Given the description of an element on the screen output the (x, y) to click on. 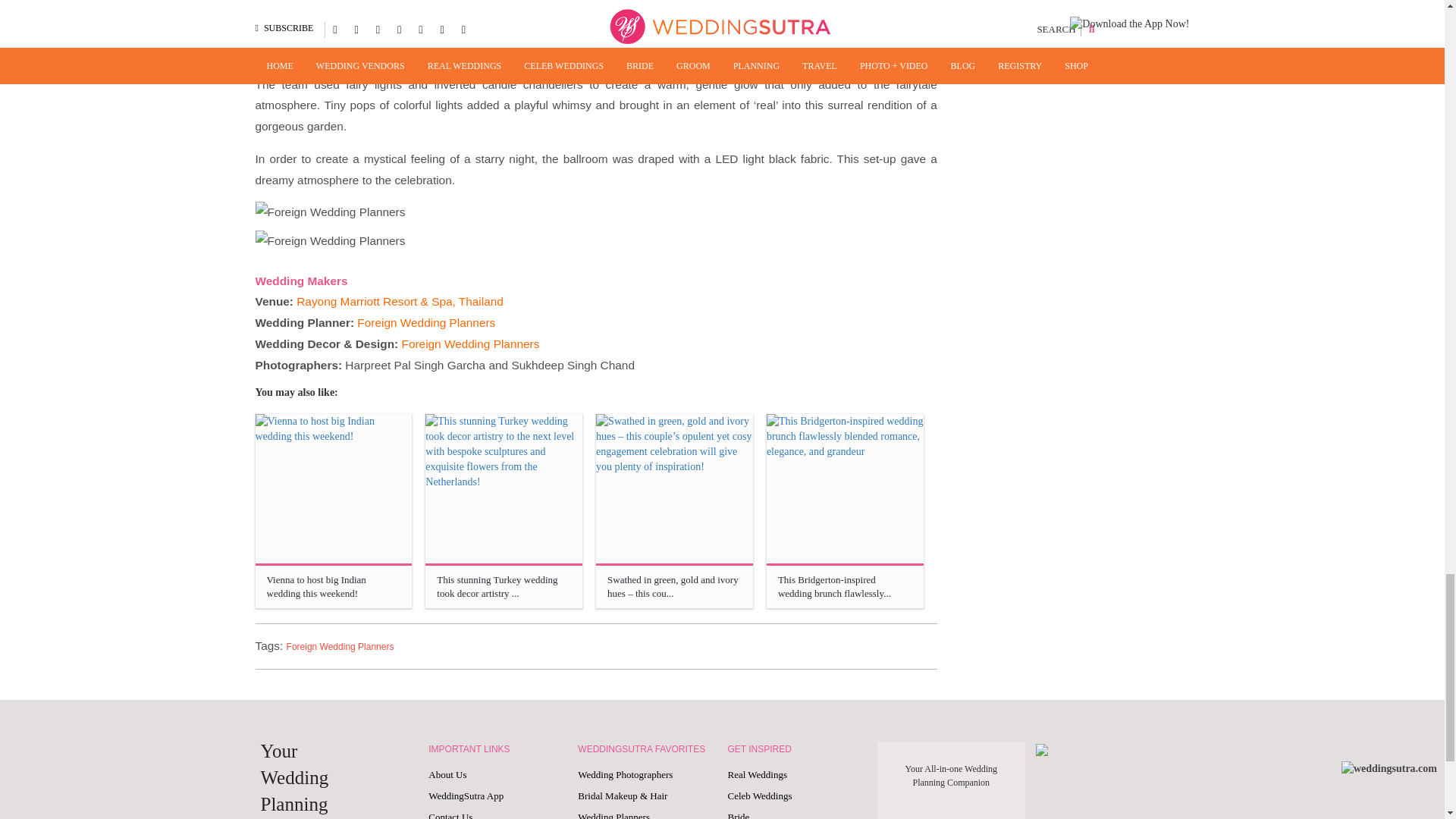
Vienna to host big Indian wedding this weekend! (333, 492)
